Given the description of an element on the screen output the (x, y) to click on. 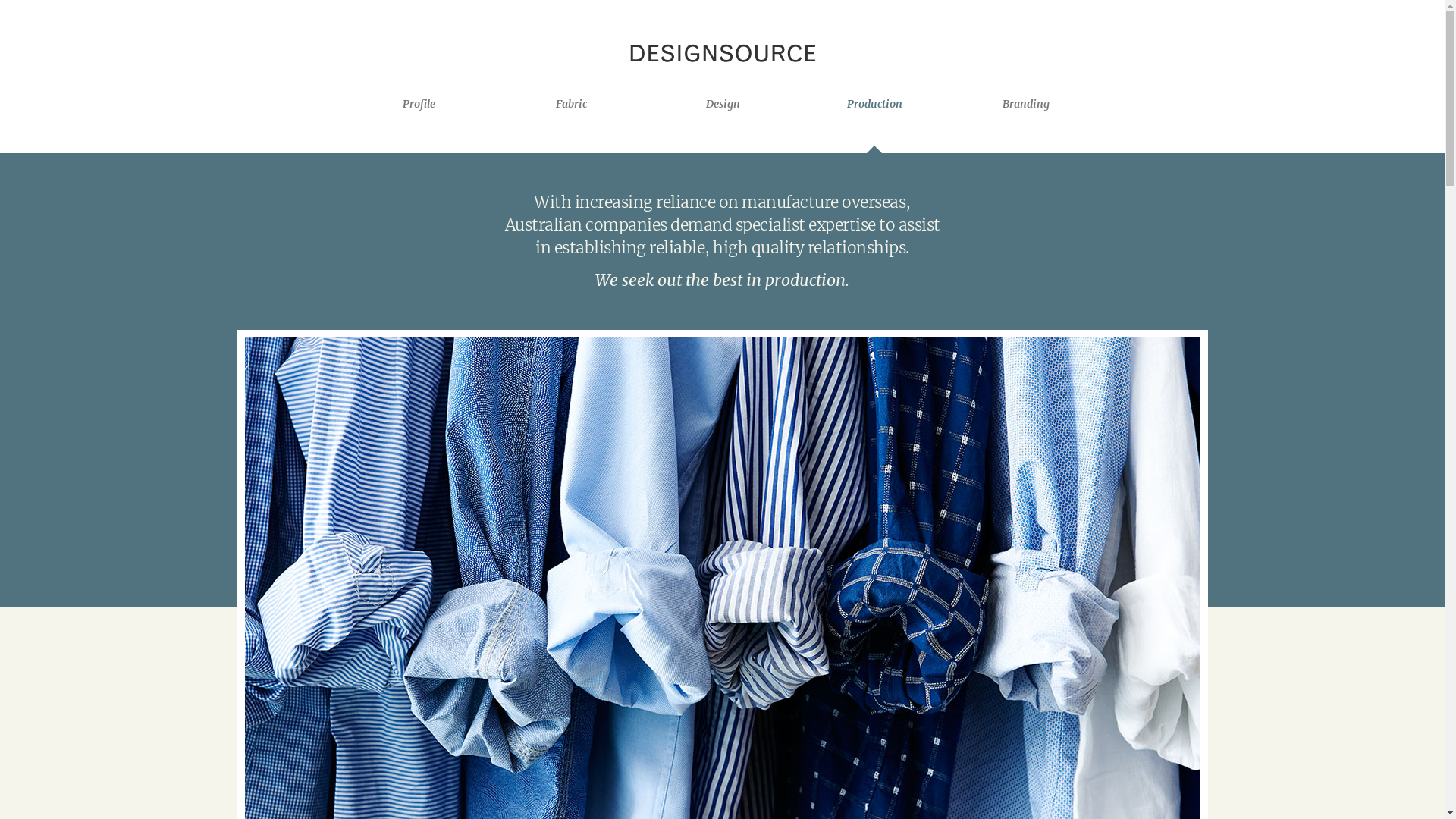
Fabric Element type: text (571, 103)
Branding Element type: text (1026, 103)
Profile Element type: text (418, 103)
Design Element type: text (722, 103)
Production Element type: text (874, 103)
